Given the description of an element on the screen output the (x, y) to click on. 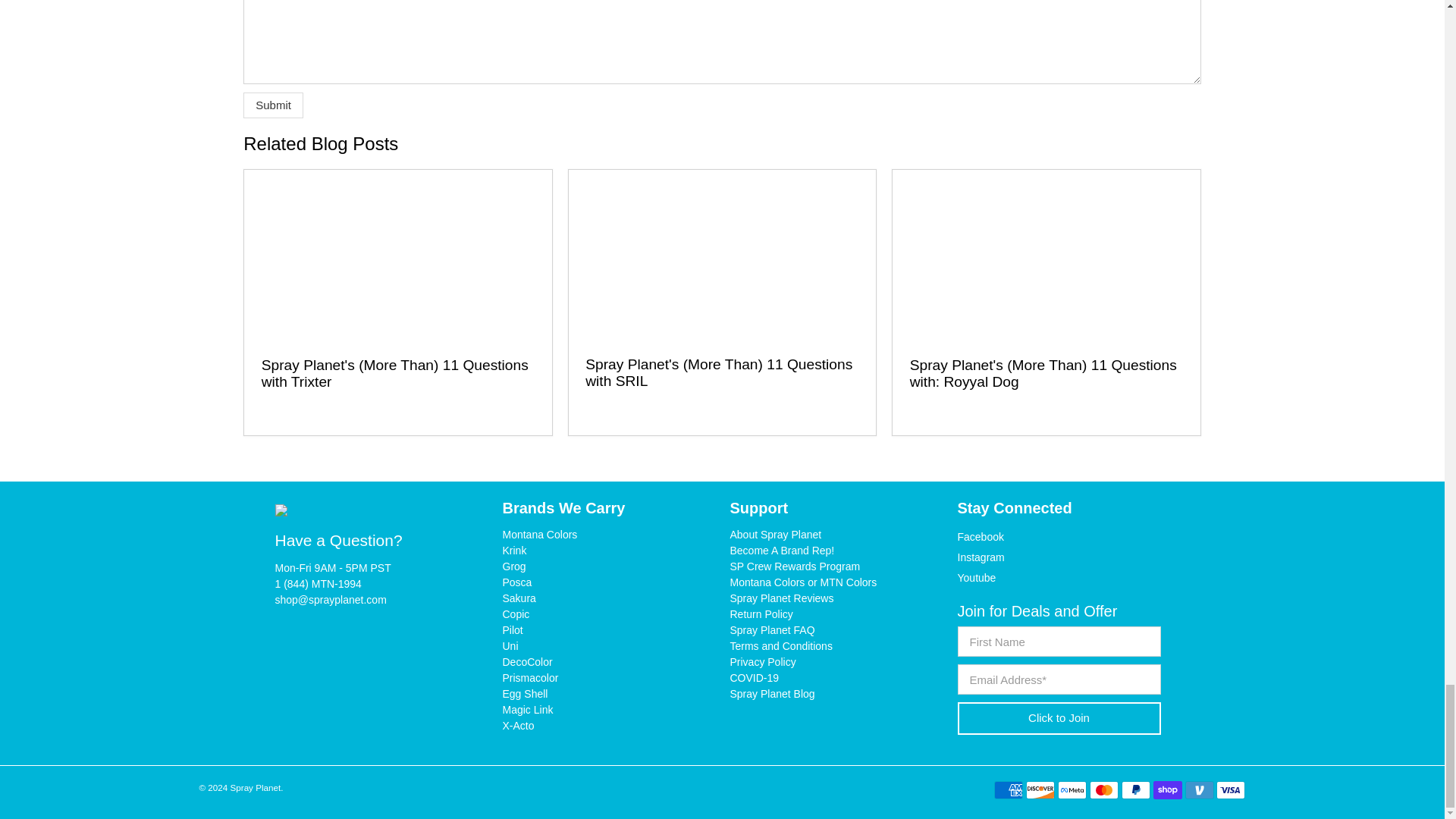
Shop Pay (1167, 790)
Visa (1229, 790)
Discover (1040, 790)
American Express (1008, 790)
PayPal (1135, 790)
Venmo (1199, 790)
sprayplanet on YouTube (975, 577)
sprayplanet on Facebook (979, 536)
Mastercard (1103, 790)
Submit (272, 104)
